Given the description of an element on the screen output the (x, y) to click on. 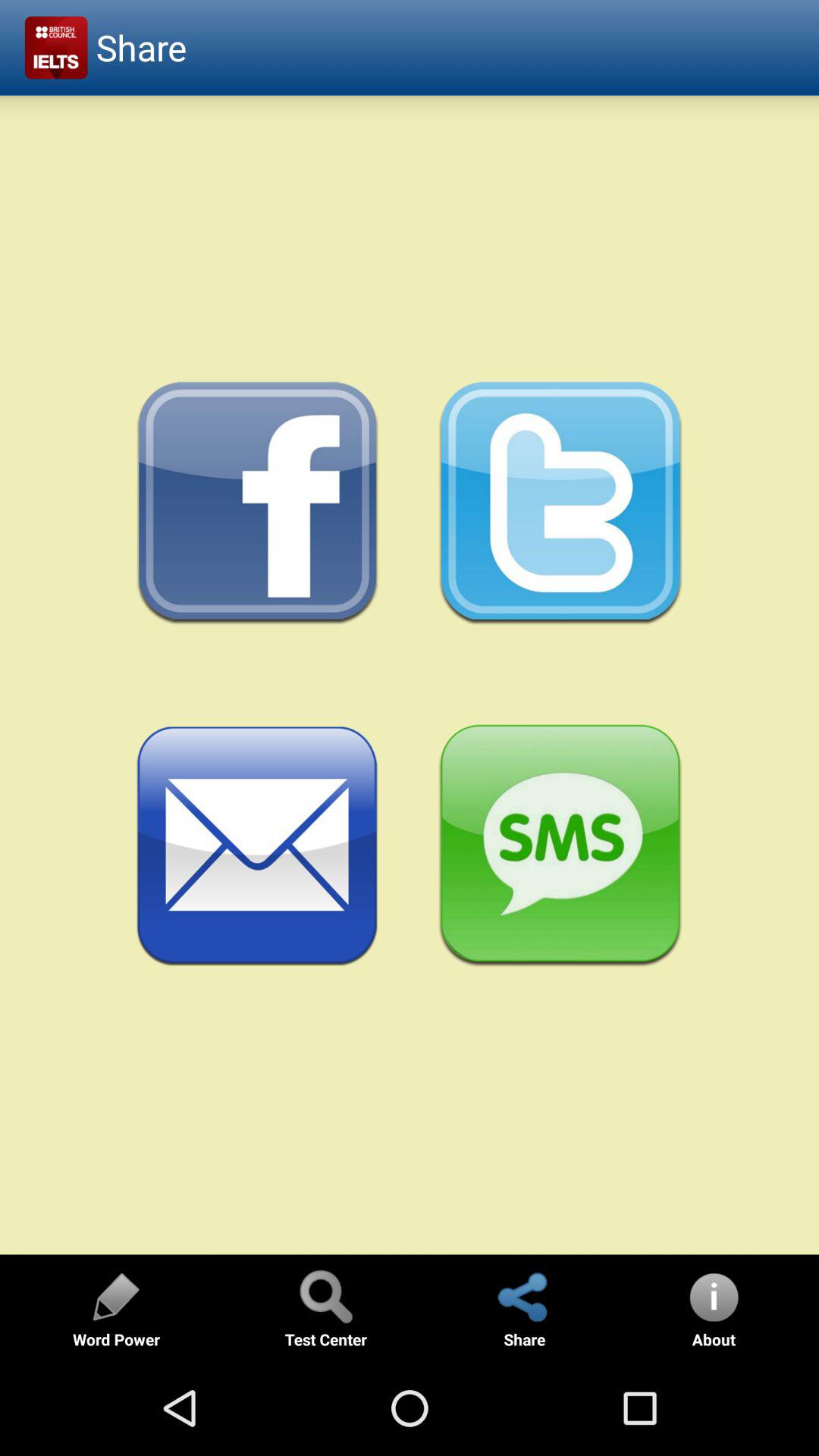
share via email (257, 846)
